Given the description of an element on the screen output the (x, y) to click on. 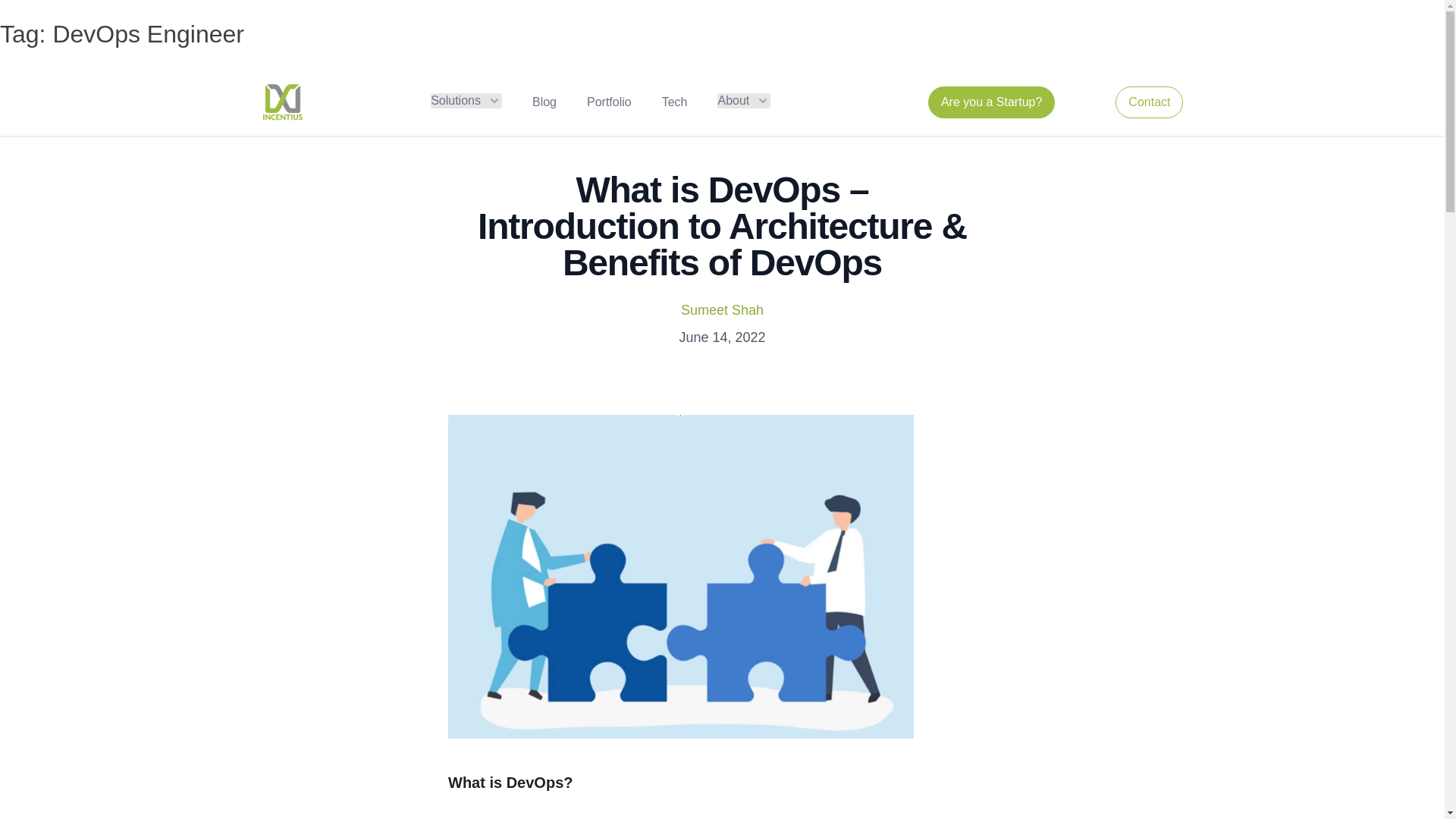
Portfolio (608, 102)
Solutions (466, 100)
Workflow (281, 102)
Are you a Startup? (991, 101)
About (743, 100)
Contact (1148, 101)
Tech (674, 102)
Blog (544, 102)
